Given the description of an element on the screen output the (x, y) to click on. 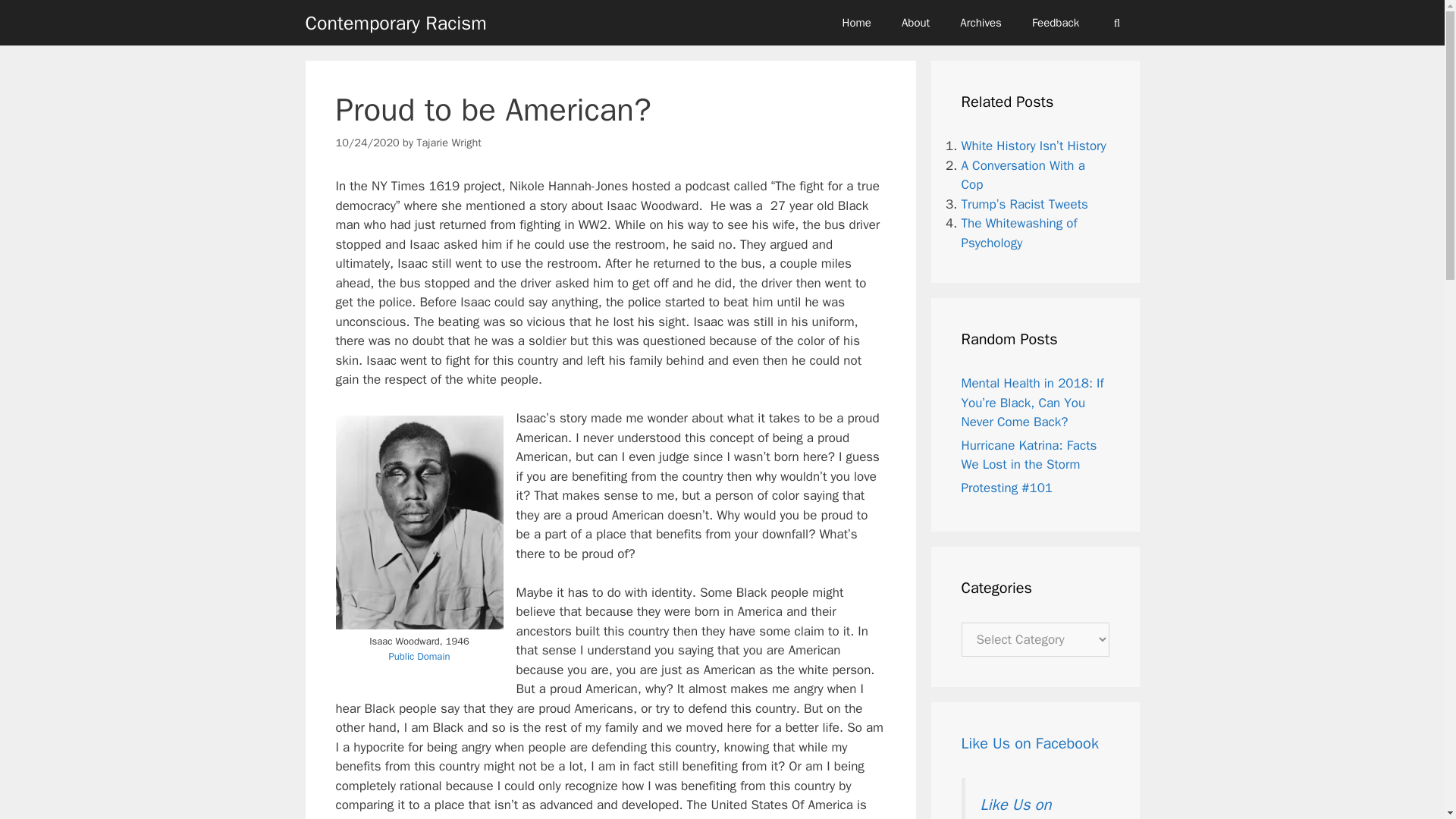
View all posts by Tajarie Wright (448, 142)
Feedback (1055, 22)
Contemporary Racism (395, 22)
Public Domain (418, 656)
Home (856, 22)
About (915, 22)
Tajarie Wright (448, 142)
Archives (980, 22)
